Given the description of an element on the screen output the (x, y) to click on. 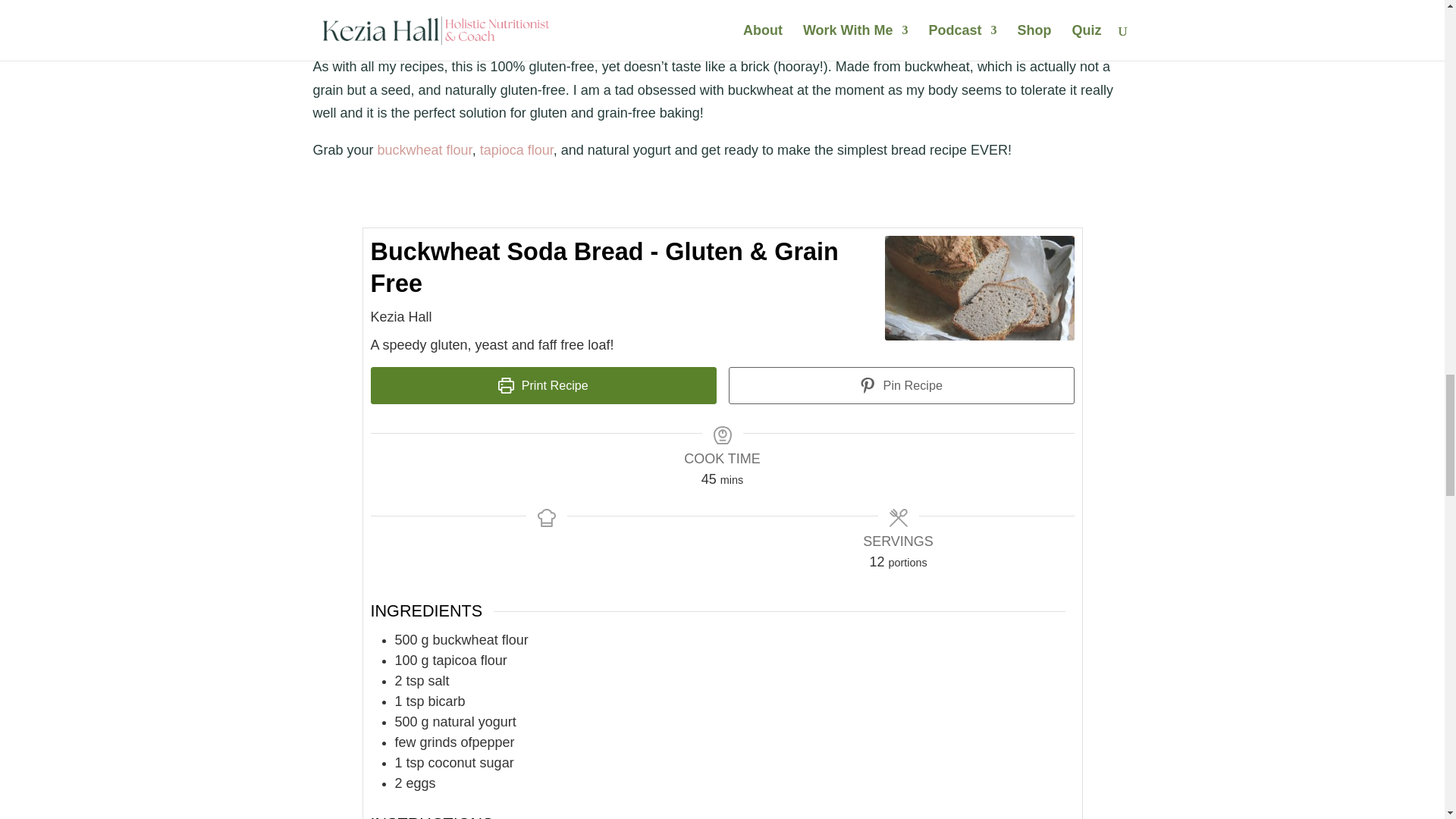
Pin Recipe (901, 385)
buckwheat flour (424, 150)
Print Recipe (542, 385)
tapioca flour (516, 150)
